Given the description of an element on the screen output the (x, y) to click on. 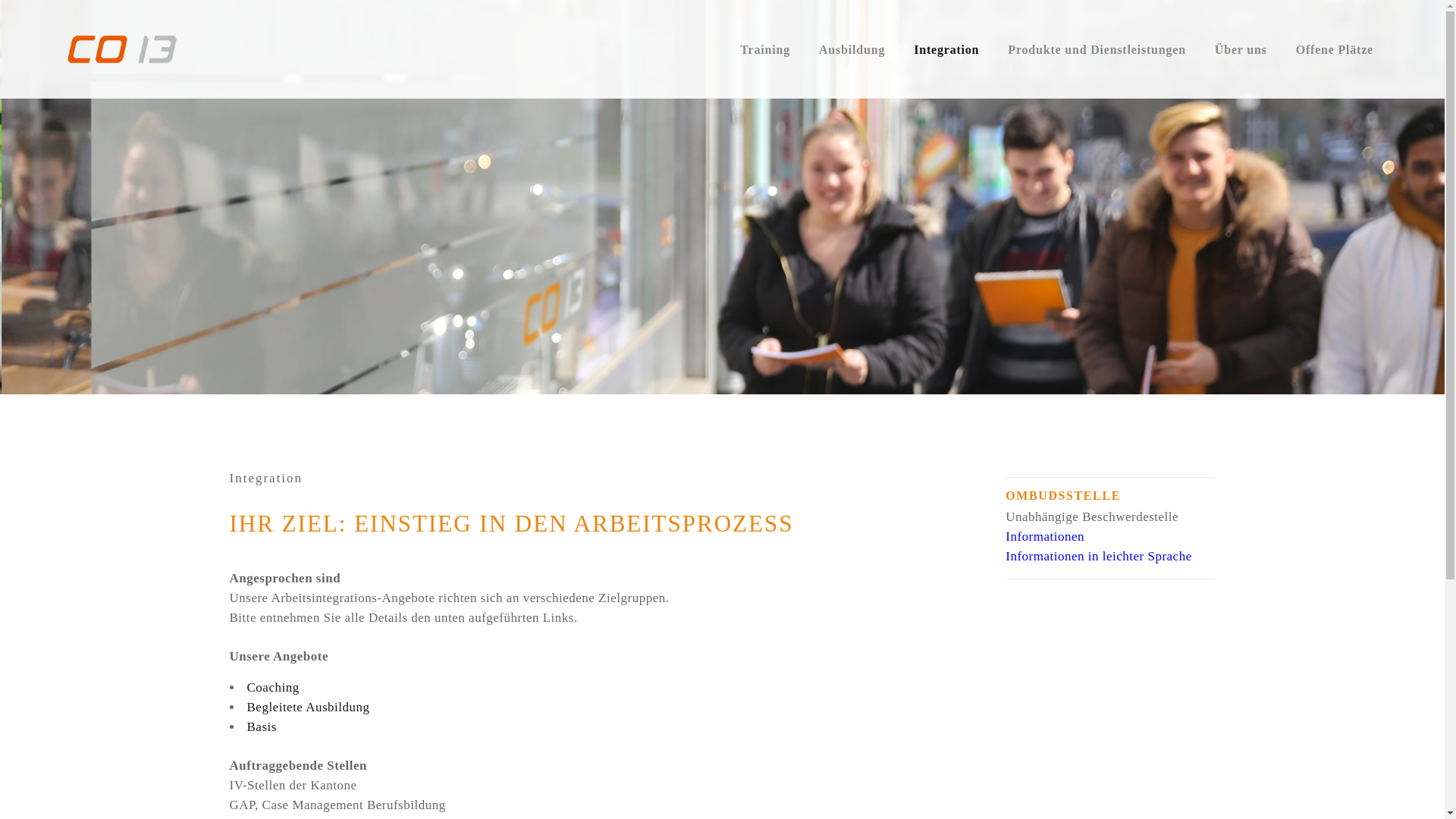
Integration Element type: text (946, 49)
Informationen Element type: text (1044, 536)
Basis Element type: text (261, 725)
Coaching Element type: text (273, 686)
Ausbildung Element type: text (851, 49)
Training Element type: text (764, 49)
Produkte und Dienstleistungen Element type: text (1096, 49)
Begleitete Ausbildung Element type: text (308, 706)
Informationen in leichter Sprache Element type: text (1098, 556)
